Given the description of an element on the screen output the (x, y) to click on. 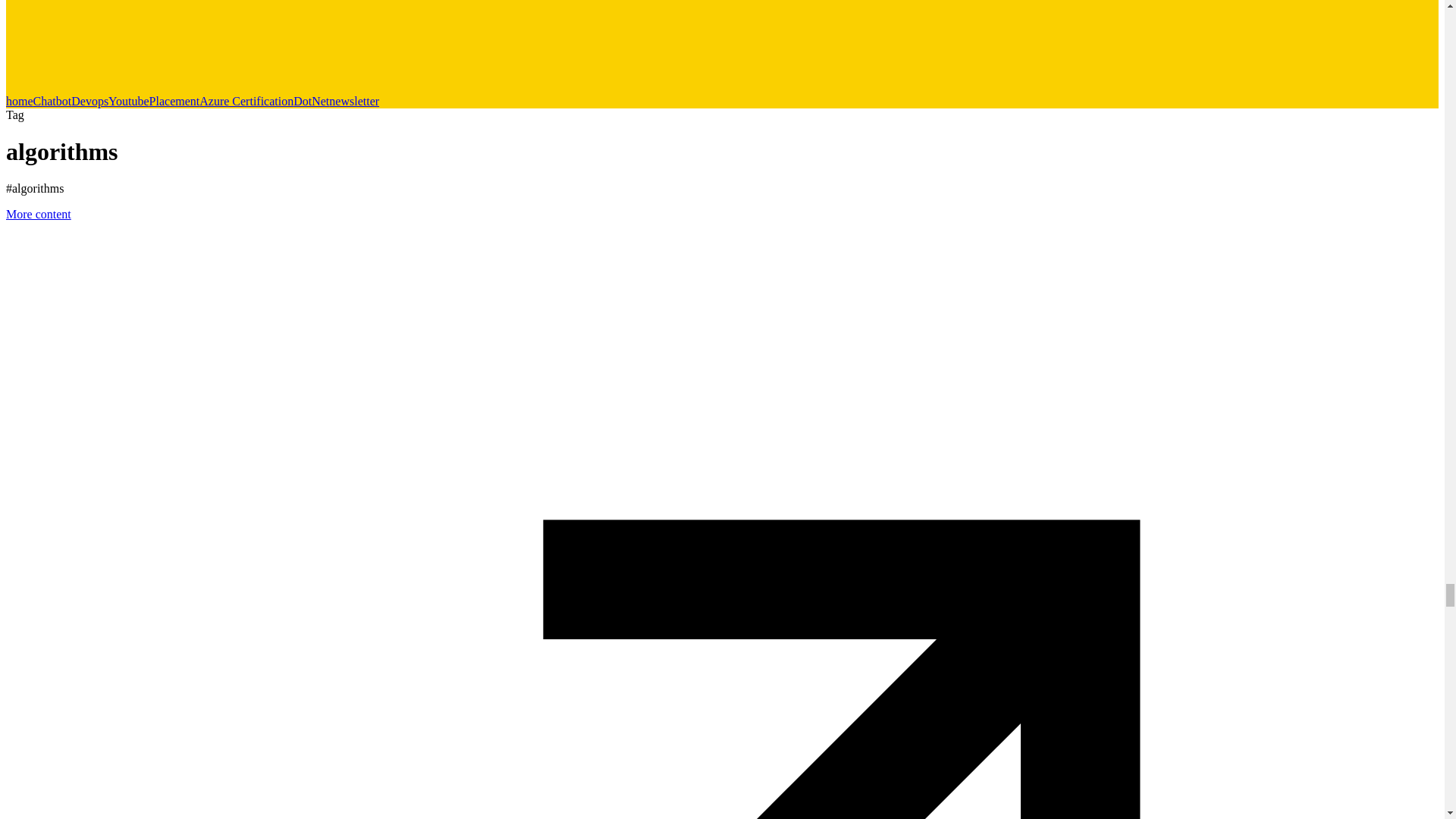
Chatbot (52, 101)
Youtube (128, 101)
Devops (89, 101)
Placement (174, 101)
Azure Certification (246, 101)
home (19, 101)
newsletter (353, 101)
DotNet (311, 101)
